Given the description of an element on the screen output the (x, y) to click on. 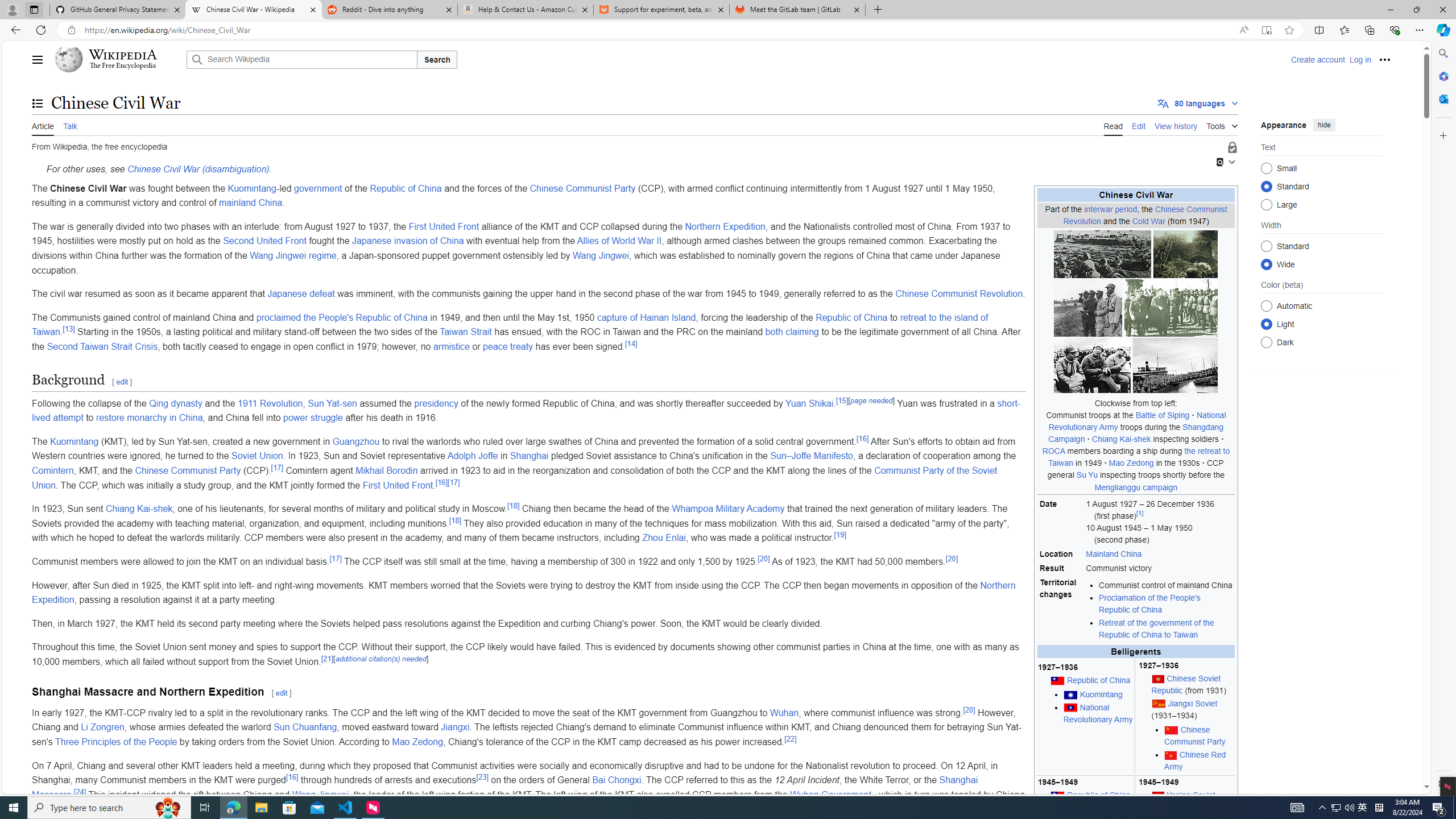
Proclamation of the People's Republic of China (1166, 604)
Dark (1266, 341)
restore monarchy in China (149, 417)
short-lived attempt (526, 410)
Wide (1266, 263)
Toggle the table of contents (37, 103)
power struggle (313, 417)
Article (42, 124)
Allies of World War II (619, 240)
Log in (1360, 58)
